Given the description of an element on the screen output the (x, y) to click on. 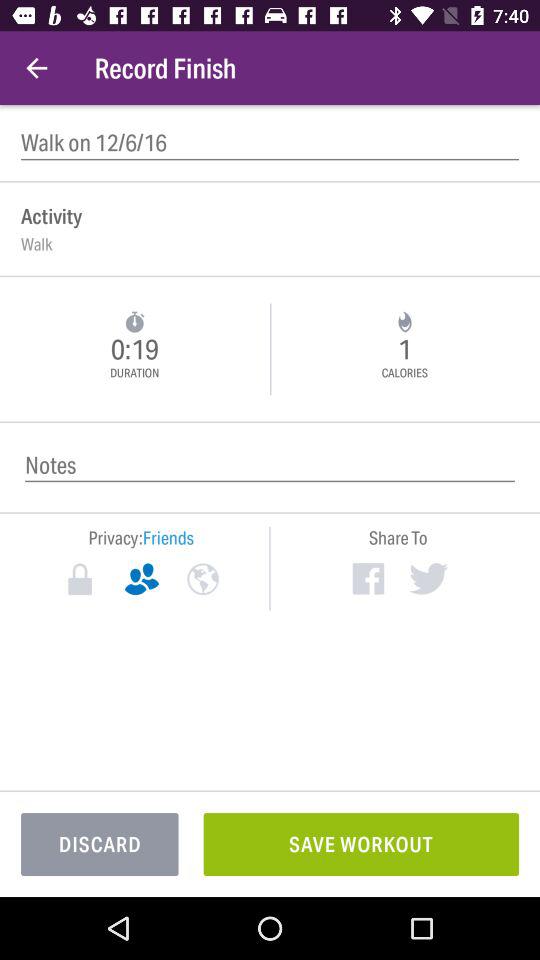
switch facebook (368, 578)
